Given the description of an element on the screen output the (x, y) to click on. 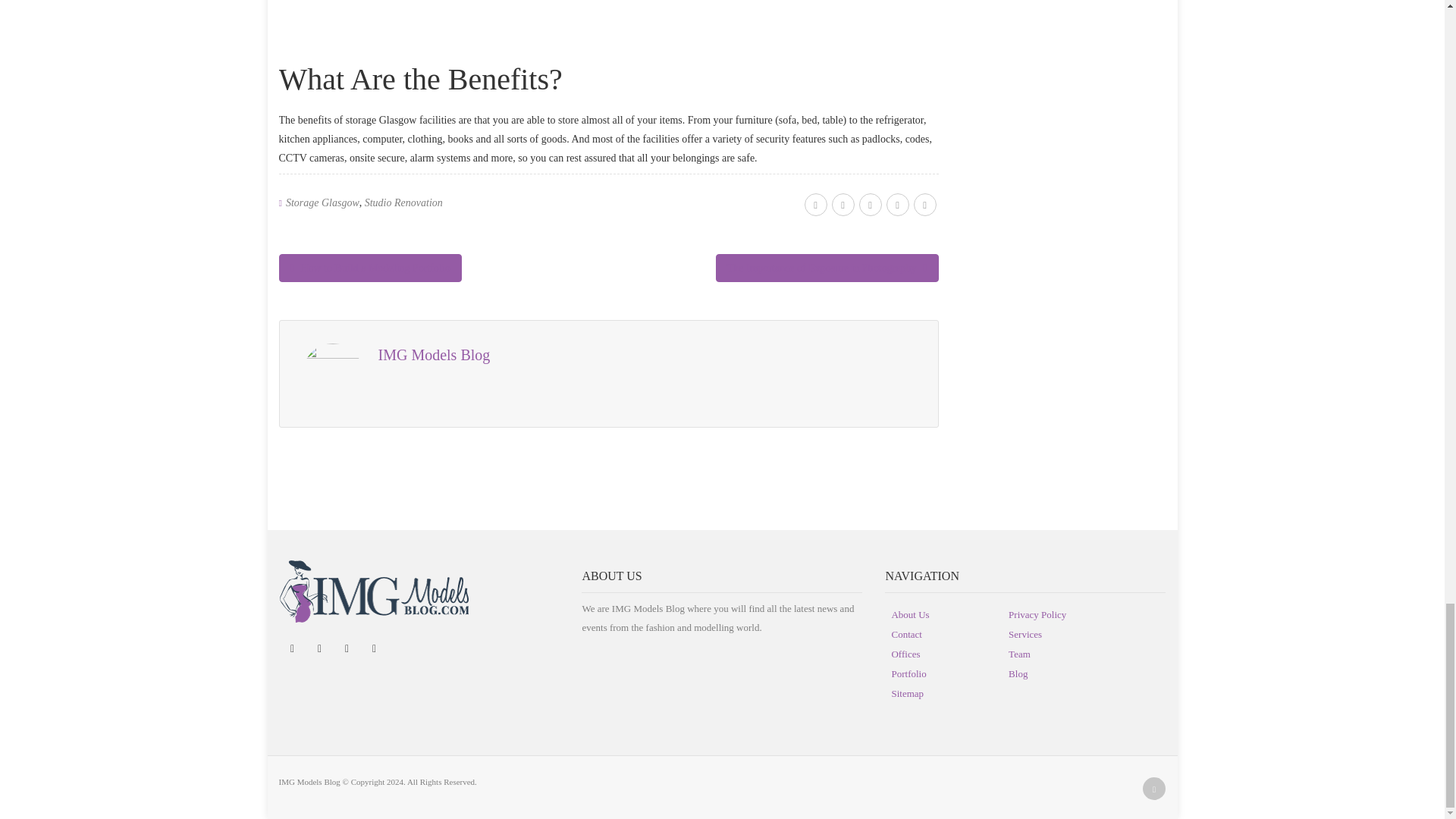
Storage Glasgow (322, 202)
The Importance of Exposure in Photography (827, 267)
How to Build a Modeling Portfolio (370, 267)
IMG Models Blog (433, 354)
Studio Renovation (403, 202)
